Given the description of an element on the screen output the (x, y) to click on. 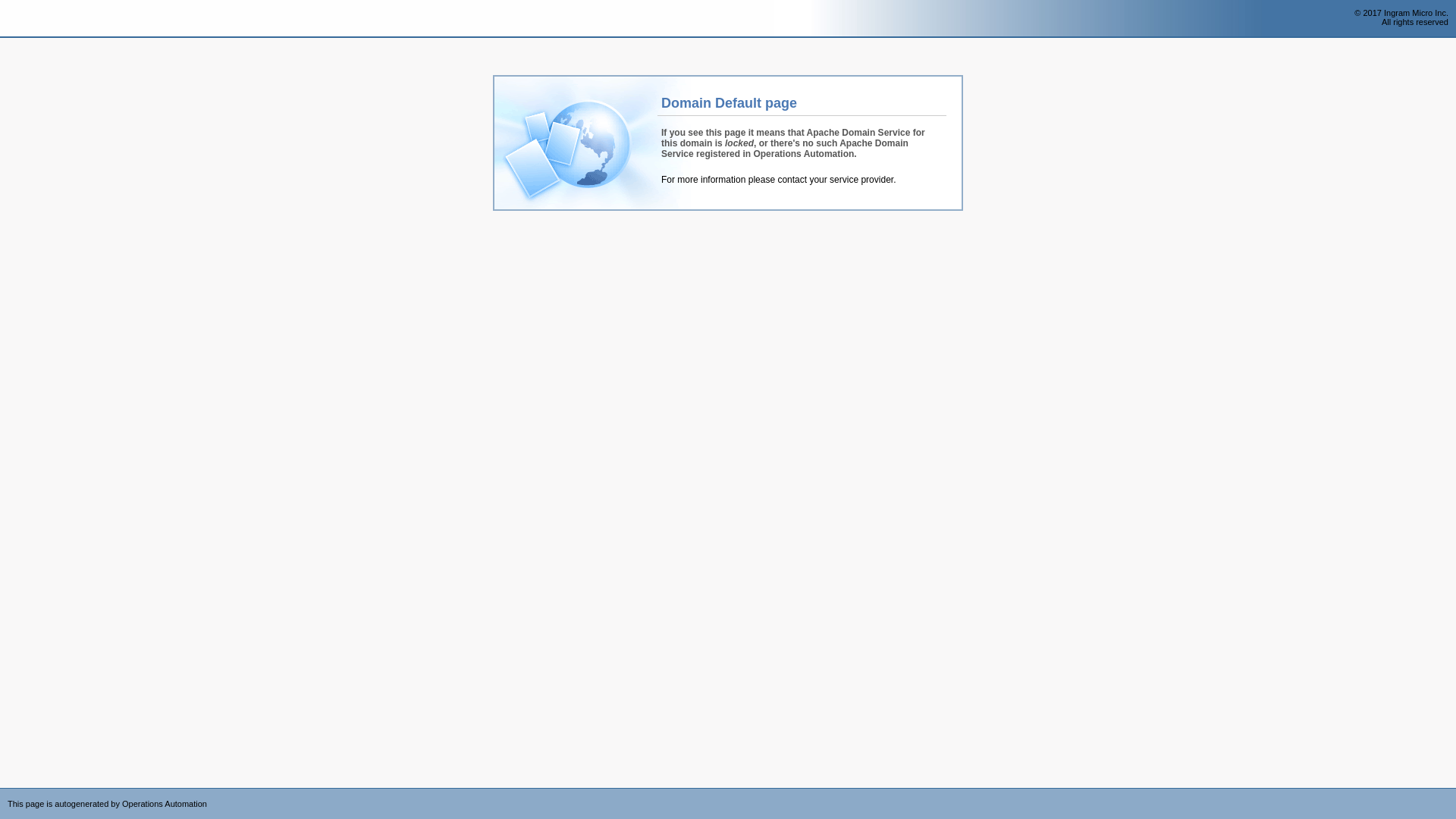
Powered by CloudBlue Commerce Element type: hover (1447, 792)
Operations Automation Element type: text (39, 18)
